Given the description of an element on the screen output the (x, y) to click on. 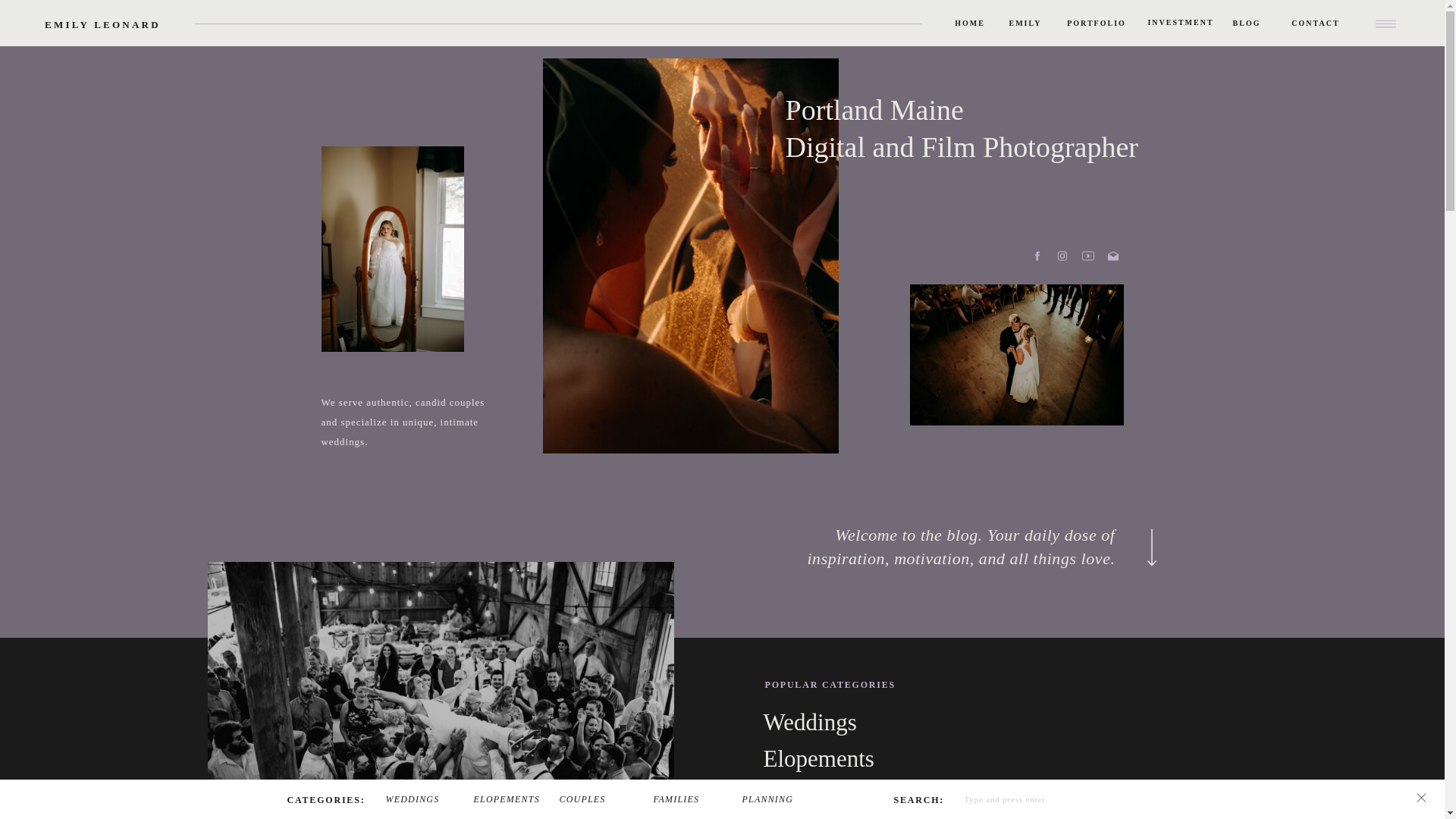
Couples Sessions (936, 798)
Elopements (935, 761)
Weddings (935, 725)
INVESTMENT (1180, 22)
EMILY (1024, 22)
BLOG (1246, 22)
CONTACT (1316, 22)
PORTFOLIO (1095, 22)
HOME (969, 22)
